Given the description of an element on the screen output the (x, y) to click on. 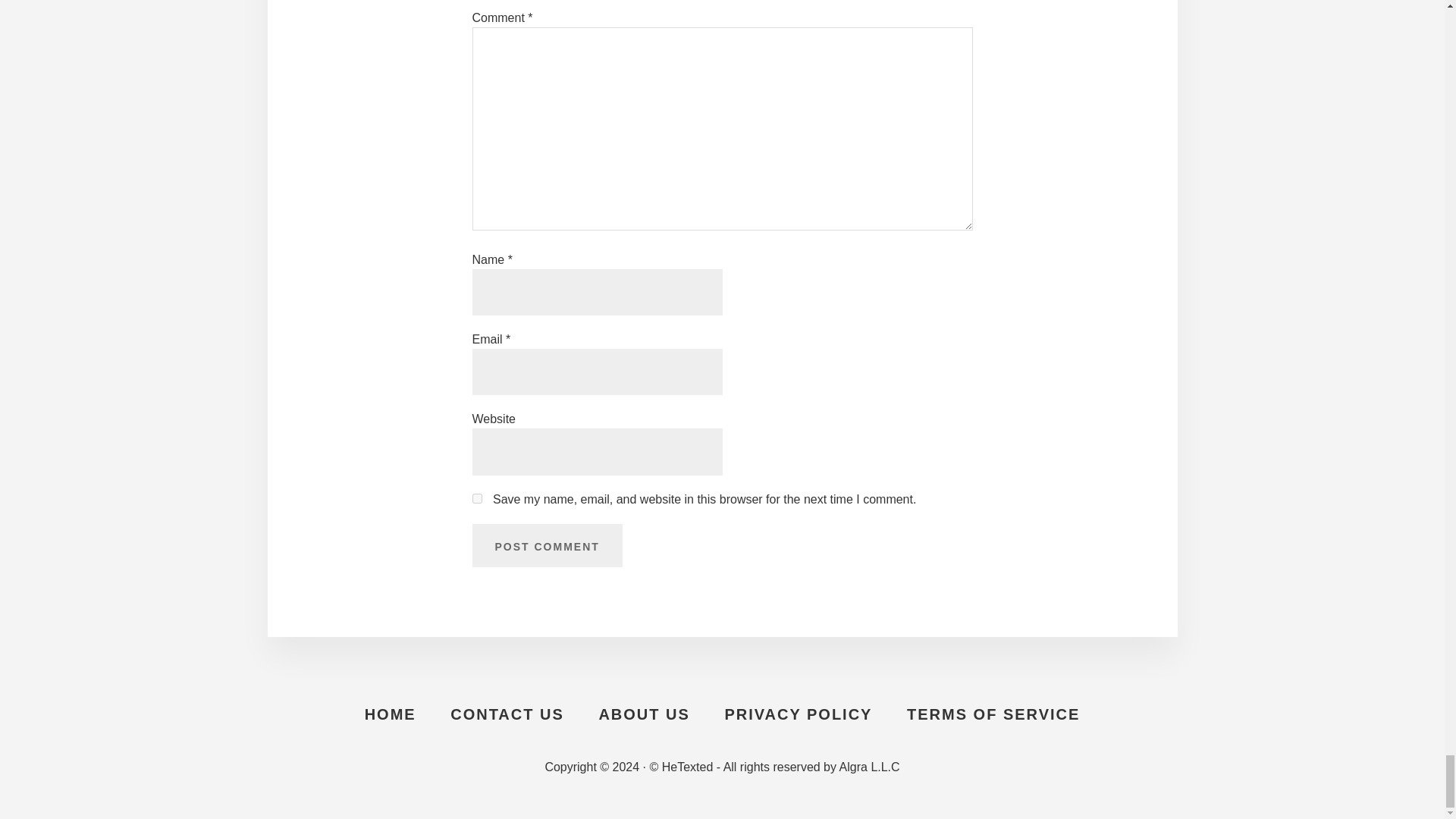
yes (476, 498)
Post Comment (546, 546)
